Given the description of an element on the screen output the (x, y) to click on. 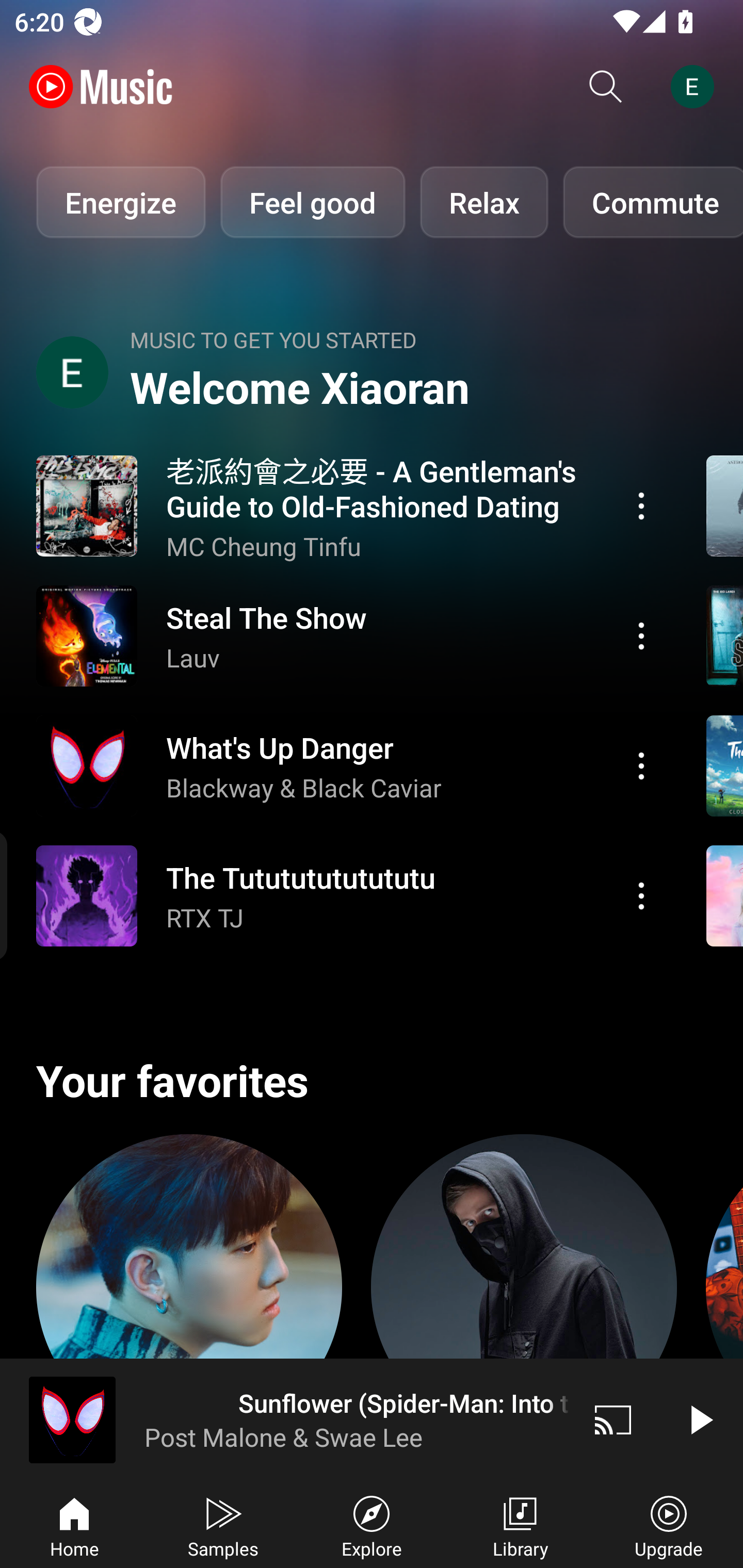
Search (605, 86)
Account (696, 86)
Action menu (349, 505)
Action menu (641, 505)
Action menu (349, 635)
Action menu (641, 635)
Action menu (349, 765)
Action menu (641, 765)
Action menu (349, 896)
Action menu (641, 896)
Cast. Disconnected (612, 1419)
Play video (699, 1419)
Home (74, 1524)
Samples (222, 1524)
Explore (371, 1524)
Library (519, 1524)
Upgrade (668, 1524)
